Given the description of an element on the screen output the (x, y) to click on. 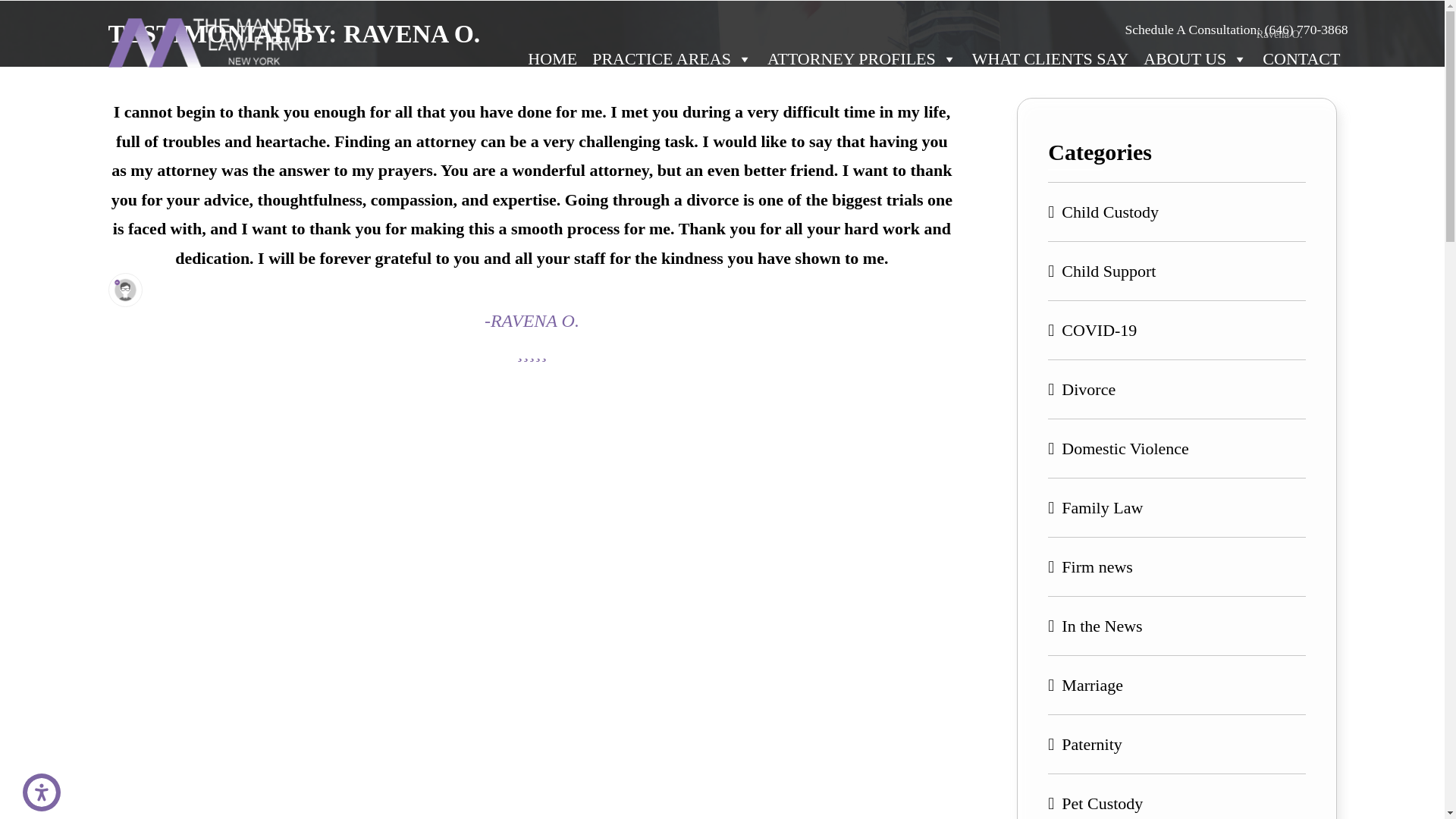
PRACTICE AREAS (672, 58)
HOME (552, 58)
